Given the description of an element on the screen output the (x, y) to click on. 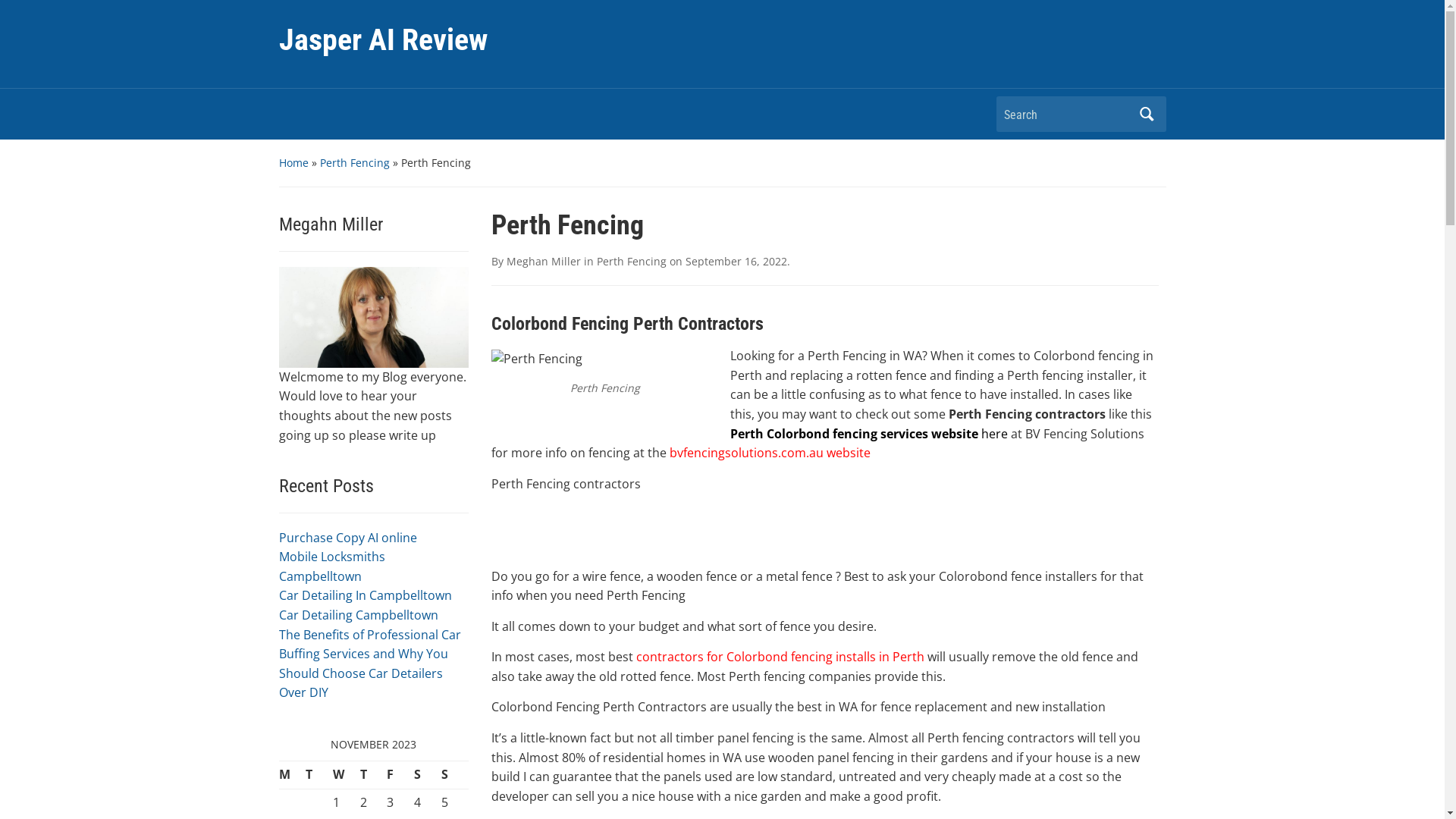
Purchase Copy AI online Element type: text (348, 537)
Car Detailing Campbelltown Element type: text (358, 614)
Search Element type: text (1146, 113)
Perth Fencing Element type: text (354, 162)
Meghan Miller Element type: text (543, 261)
Jasper AI Review Element type: text (383, 39)
September 16, 2022 Element type: text (736, 261)
Car Detailing In Campbelltown Element type: text (365, 594)
Perth Fencing Element type: text (630, 261)
Home Element type: text (293, 162)
Mobile Locksmiths Campbelltown Element type: text (332, 566)
